Given the description of an element on the screen output the (x, y) to click on. 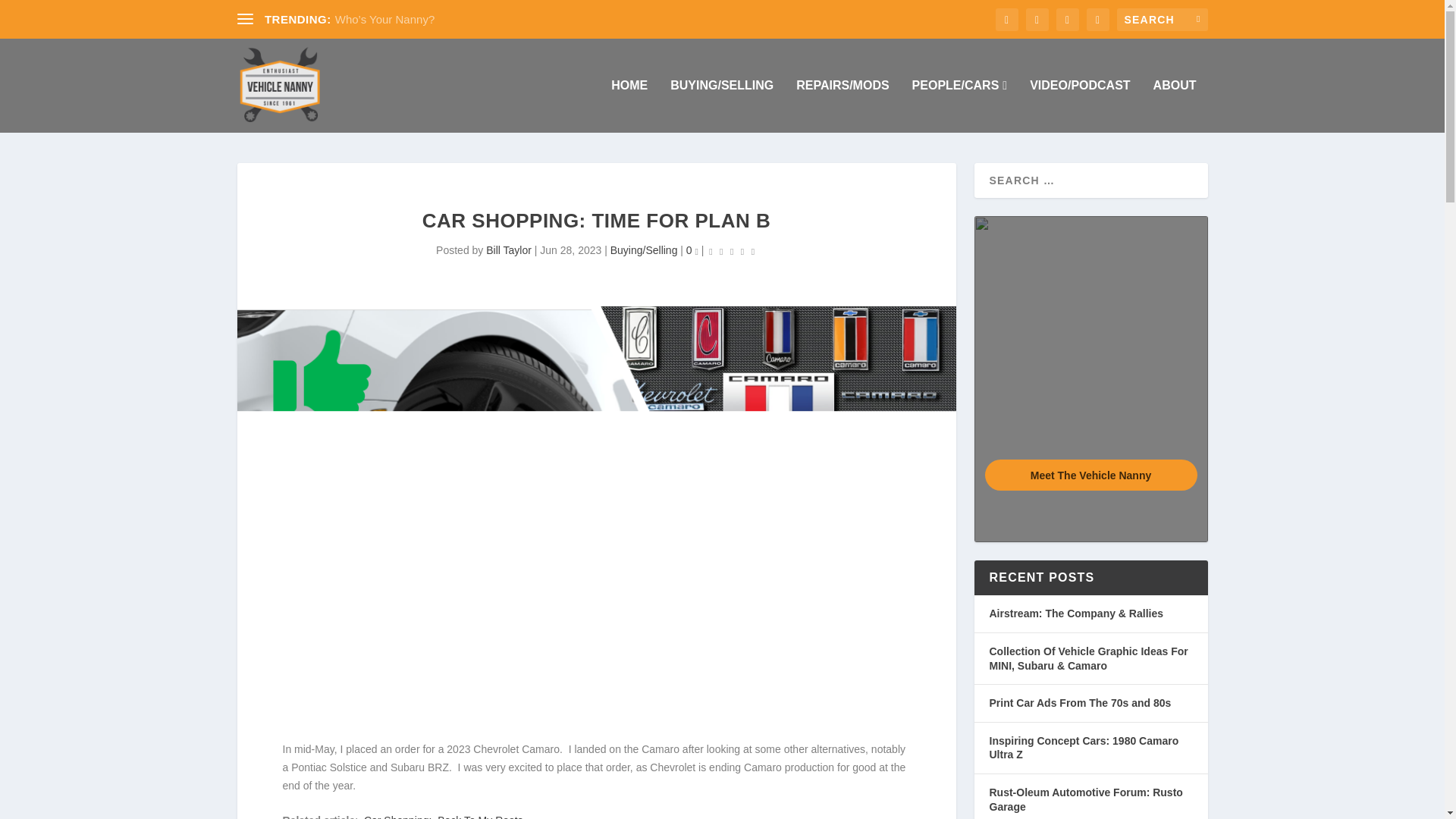
Bill Taylor (508, 250)
0 (691, 250)
Car Shopping:  Back To My Roots (443, 816)
Search for: (1161, 19)
Posts by Bill Taylor (508, 250)
